Given the description of an element on the screen output the (x, y) to click on. 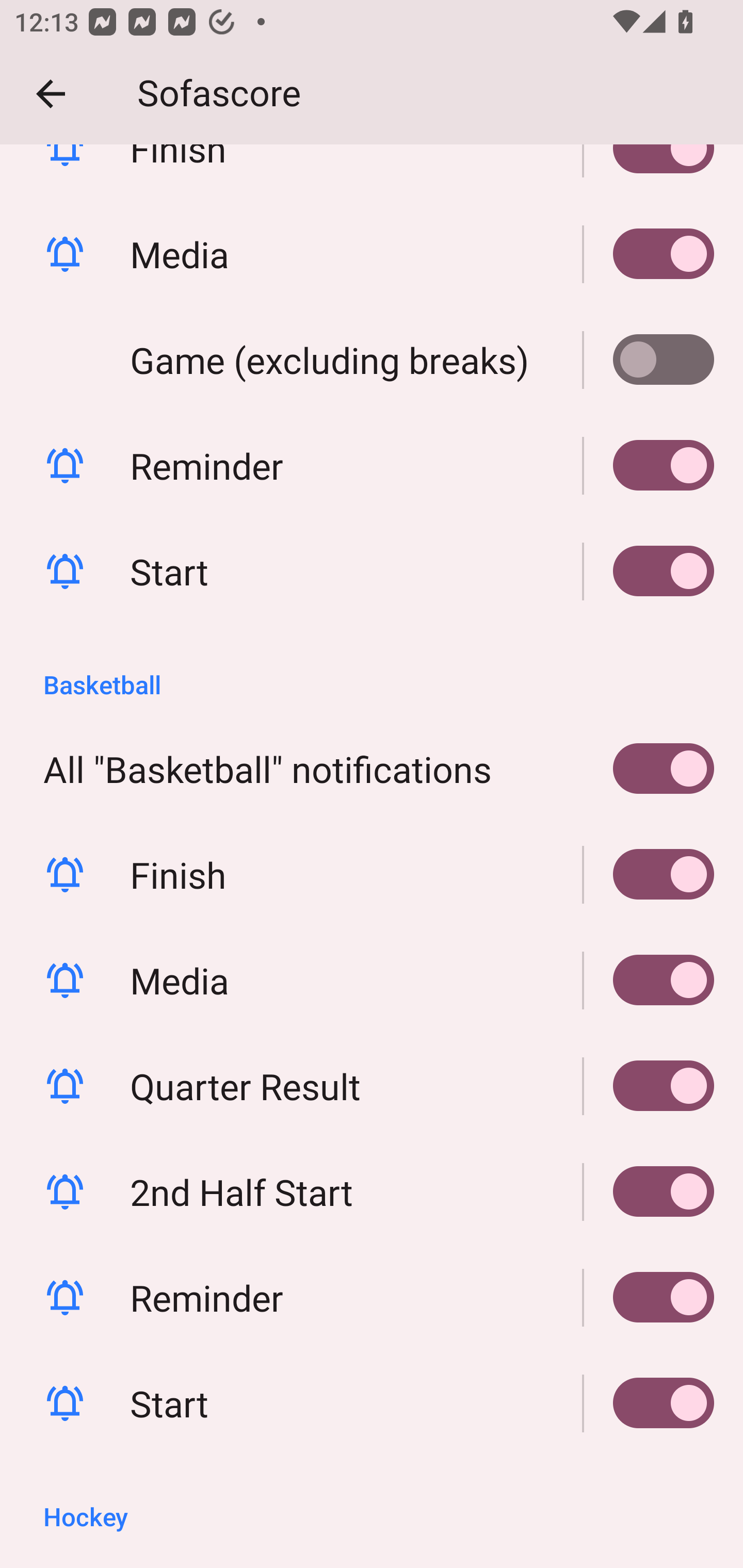
Navigate up (50, 93)
Finish (648, 172)
Media (371, 253)
Media (648, 253)
Game (excluding breaks) (371, 359)
Game (excluding breaks) (648, 359)
Reminder (371, 465)
Reminder (648, 465)
Start (371, 571)
Start (648, 571)
All "Basketball" notifications (371, 768)
Finish (371, 873)
Finish (648, 873)
Media (371, 979)
Media (648, 979)
Quarter Result (371, 1085)
Quarter Result (648, 1085)
2nd Half Start (371, 1191)
2nd Half Start (648, 1191)
Reminder (371, 1297)
Reminder (648, 1297)
Start (371, 1403)
Start (648, 1403)
